Given the description of an element on the screen output the (x, y) to click on. 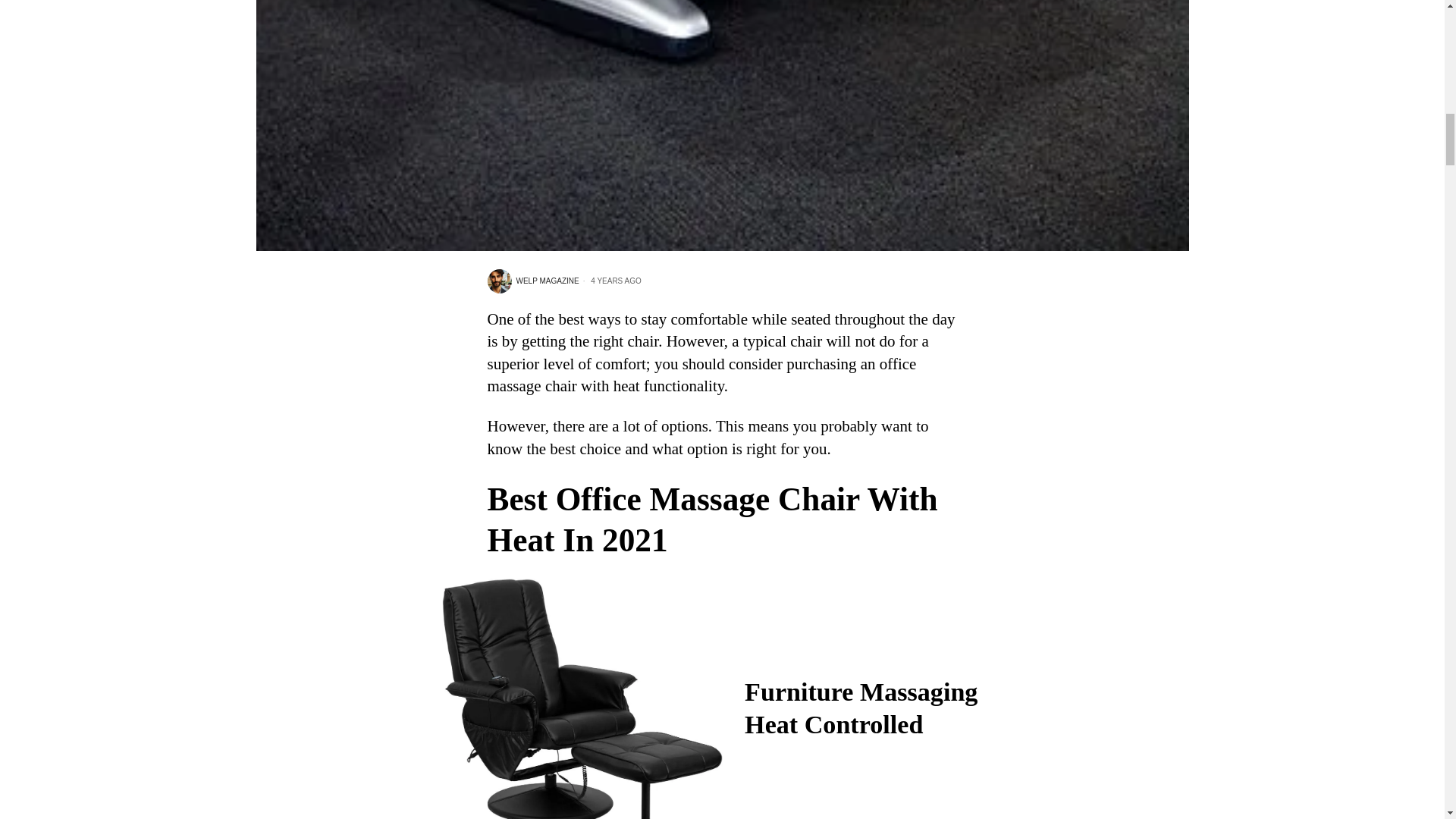
21 Jan, 2021 07:58:50 (610, 281)
WELP MAGAZINE (532, 281)
